Given the description of an element on the screen output the (x, y) to click on. 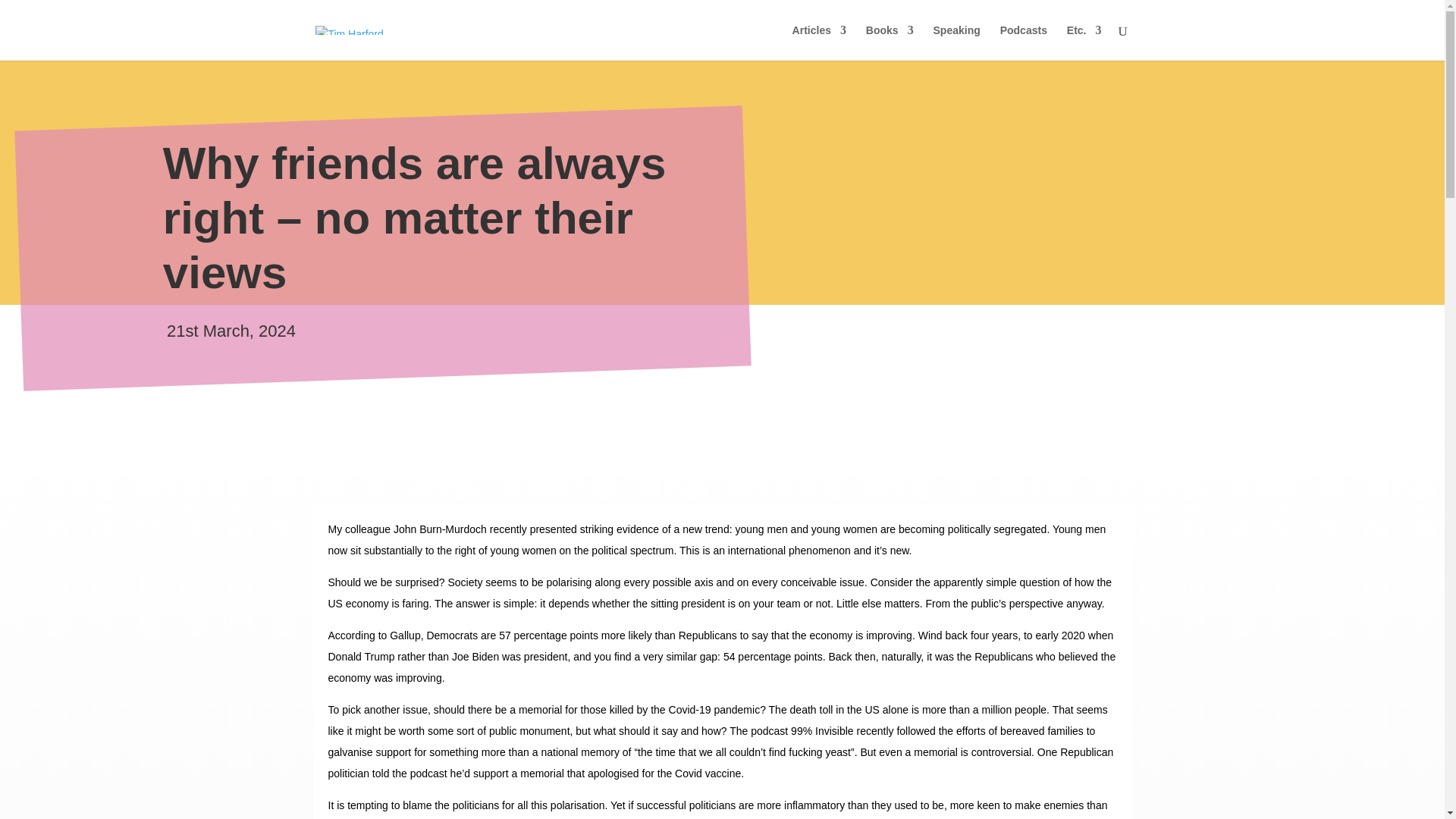
Podcasts (1023, 42)
Books (890, 42)
Speaking (956, 42)
Articles (818, 42)
Etc. (1084, 42)
